Given the description of an element on the screen output the (x, y) to click on. 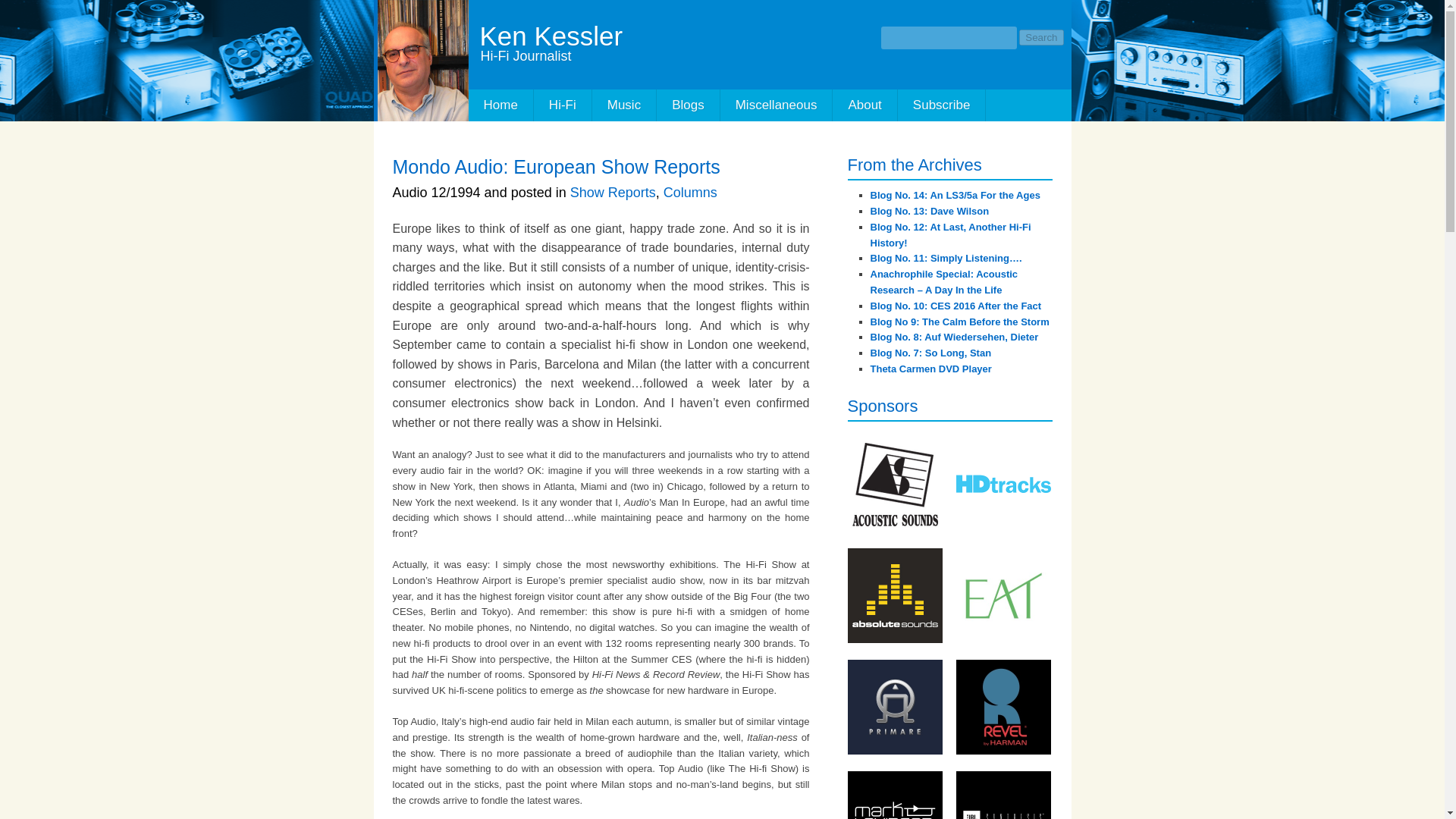
Home (501, 105)
Mark Levinson (894, 795)
Blog No. 7: So Long, Stan (930, 352)
Show Reports (613, 192)
Primare (894, 707)
HDTracks (1002, 483)
Acoustic Sounds (894, 483)
Reve; (1002, 707)
E.A.T. (1002, 594)
Blog No. 10: CES 2016 After the Fact (956, 306)
